Given the description of an element on the screen output the (x, y) to click on. 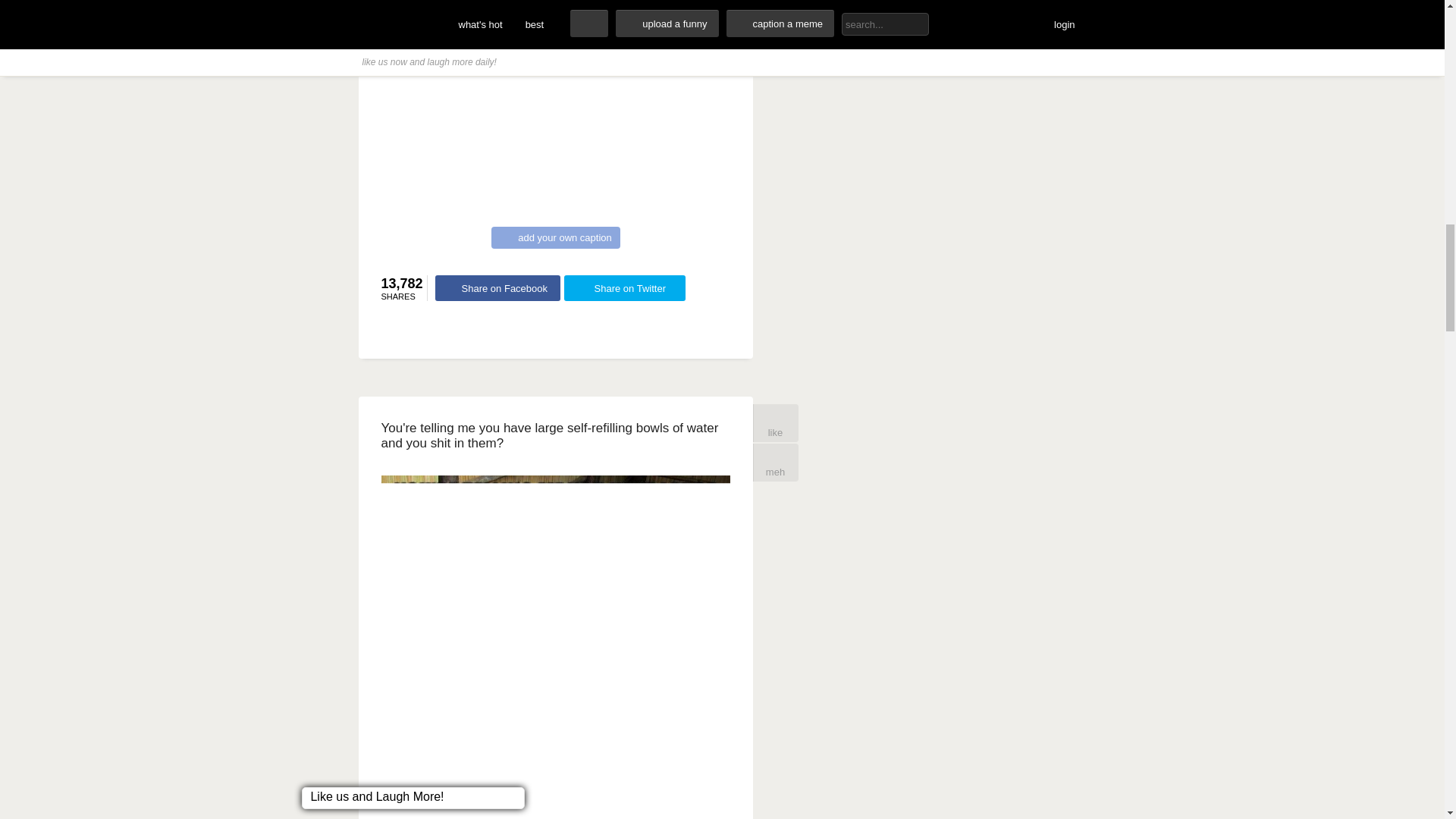
add your own caption (556, 237)
Share on Facebook (497, 288)
Share on Twitter (624, 288)
meh (774, 462)
like (774, 423)
